Given the description of an element on the screen output the (x, y) to click on. 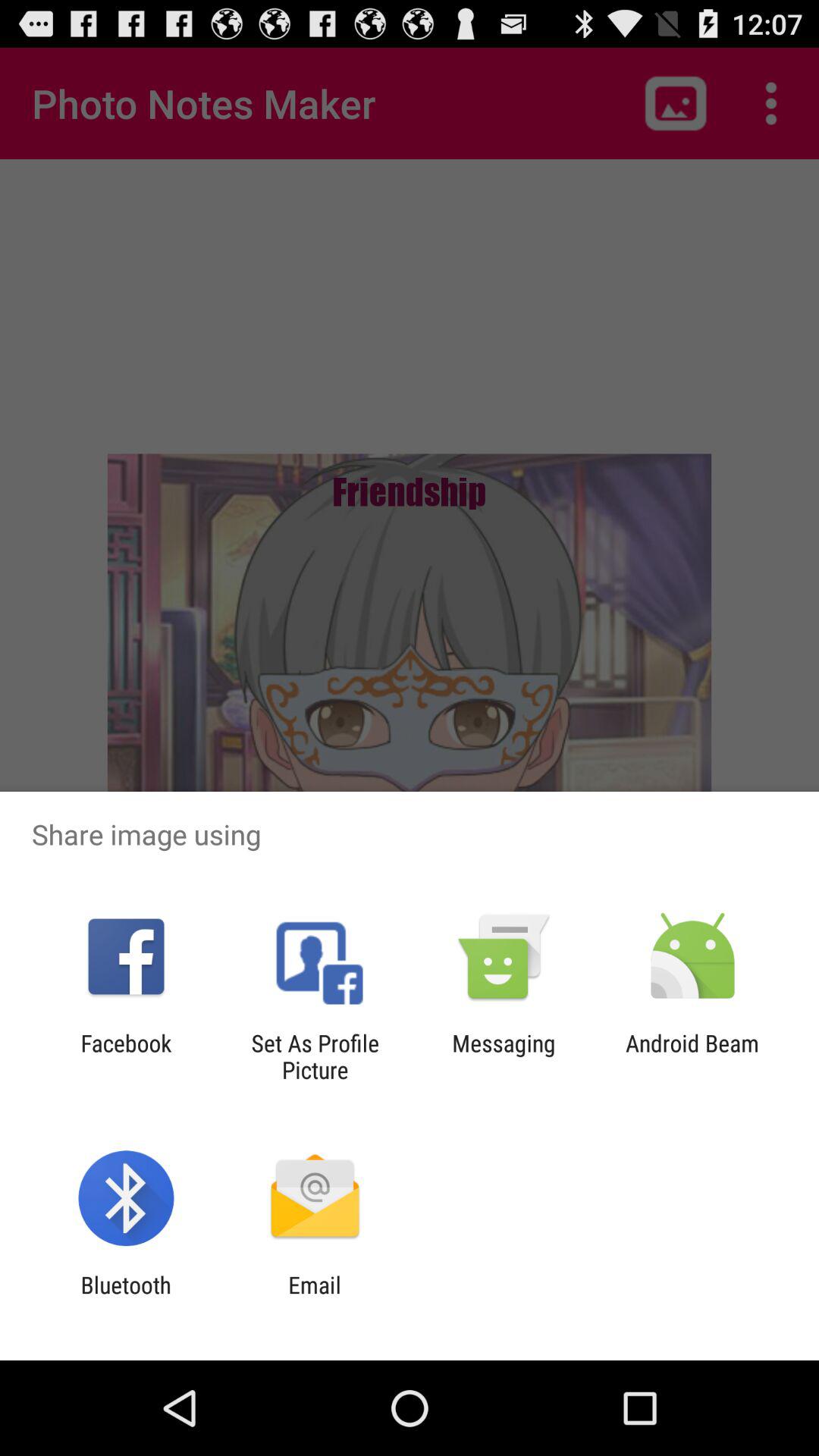
select the icon next to set as profile (503, 1056)
